Given the description of an element on the screen output the (x, y) to click on. 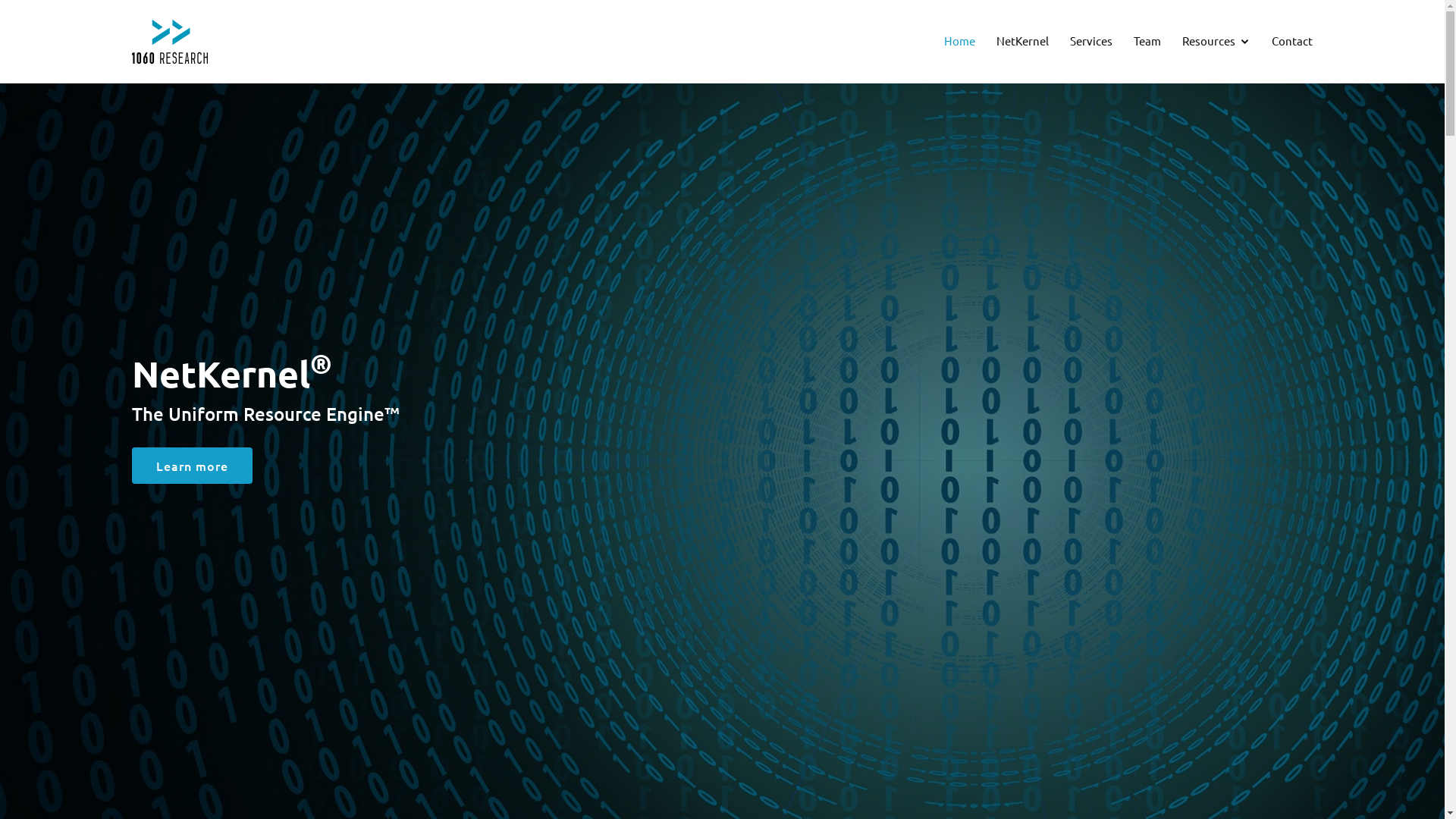
Home Element type: text (959, 41)
Learn more Element type: text (191, 465)
Contact Element type: text (1291, 41)
NetKernel Element type: text (1022, 41)
Team Element type: text (1147, 41)
Services Element type: text (1091, 41)
Resources Element type: text (1216, 41)
